Given the description of an element on the screen output the (x, y) to click on. 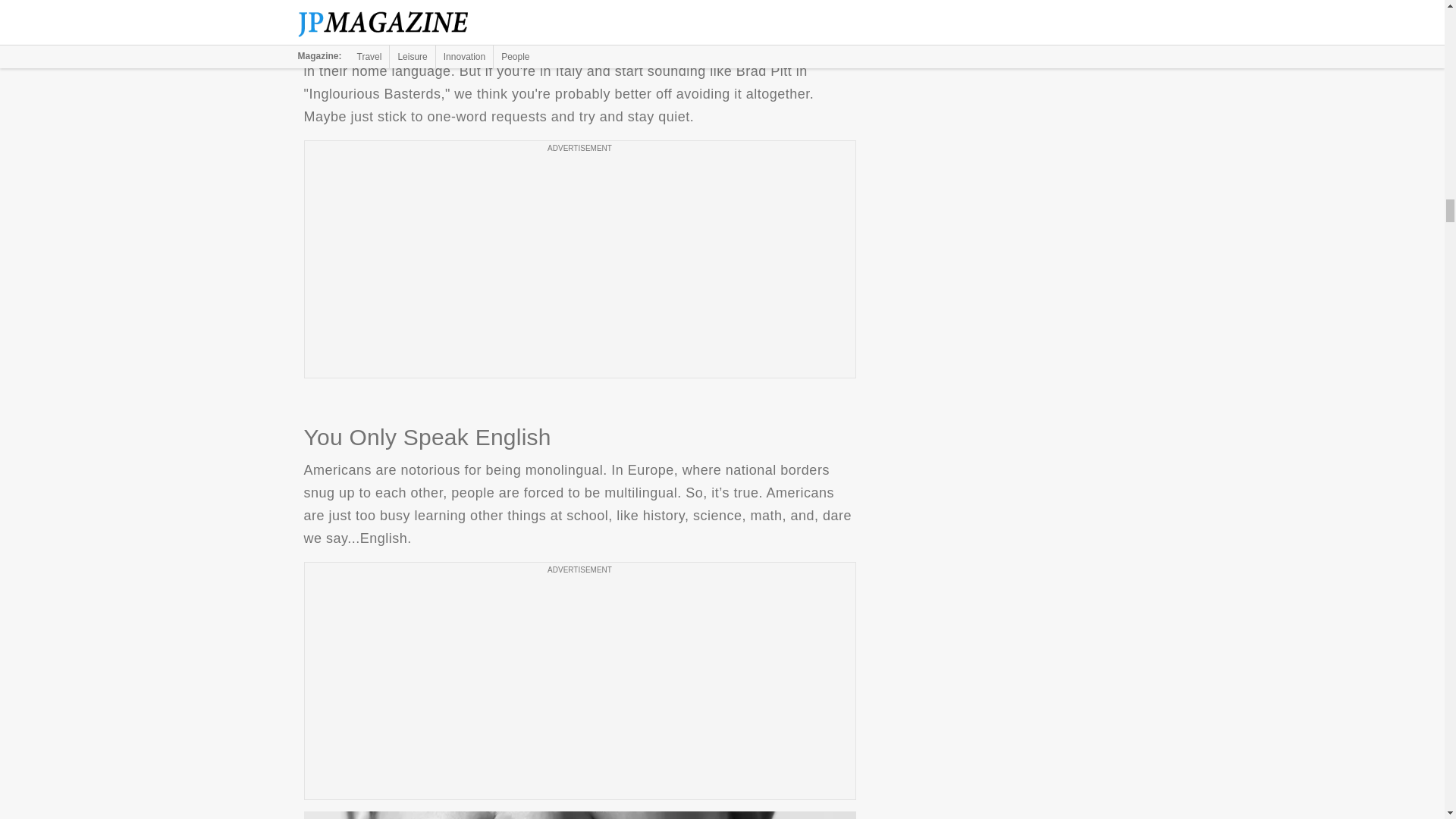
You Try to Disguise Your Accent (579, 5)
